Given the description of an element on the screen output the (x, y) to click on. 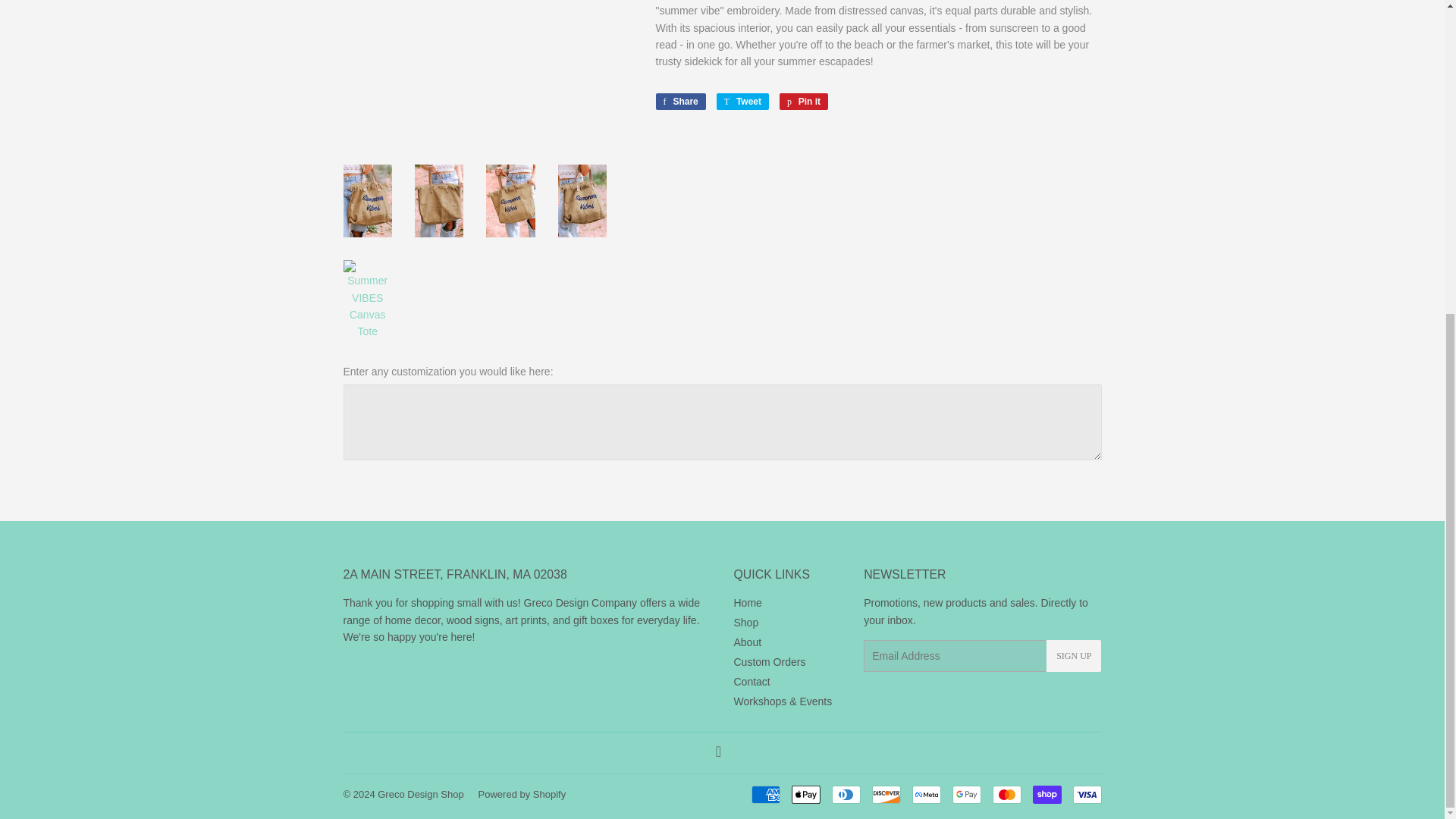
Discover (886, 794)
Tweet on Twitter (742, 101)
Apple Pay (806, 794)
Share on Facebook (679, 101)
Visa (1085, 794)
Google Pay (966, 794)
Meta Pay (925, 794)
Pin on Pinterest (803, 101)
Diners Club (845, 794)
Mastercard (1005, 794)
